Given the description of an element on the screen output the (x, y) to click on. 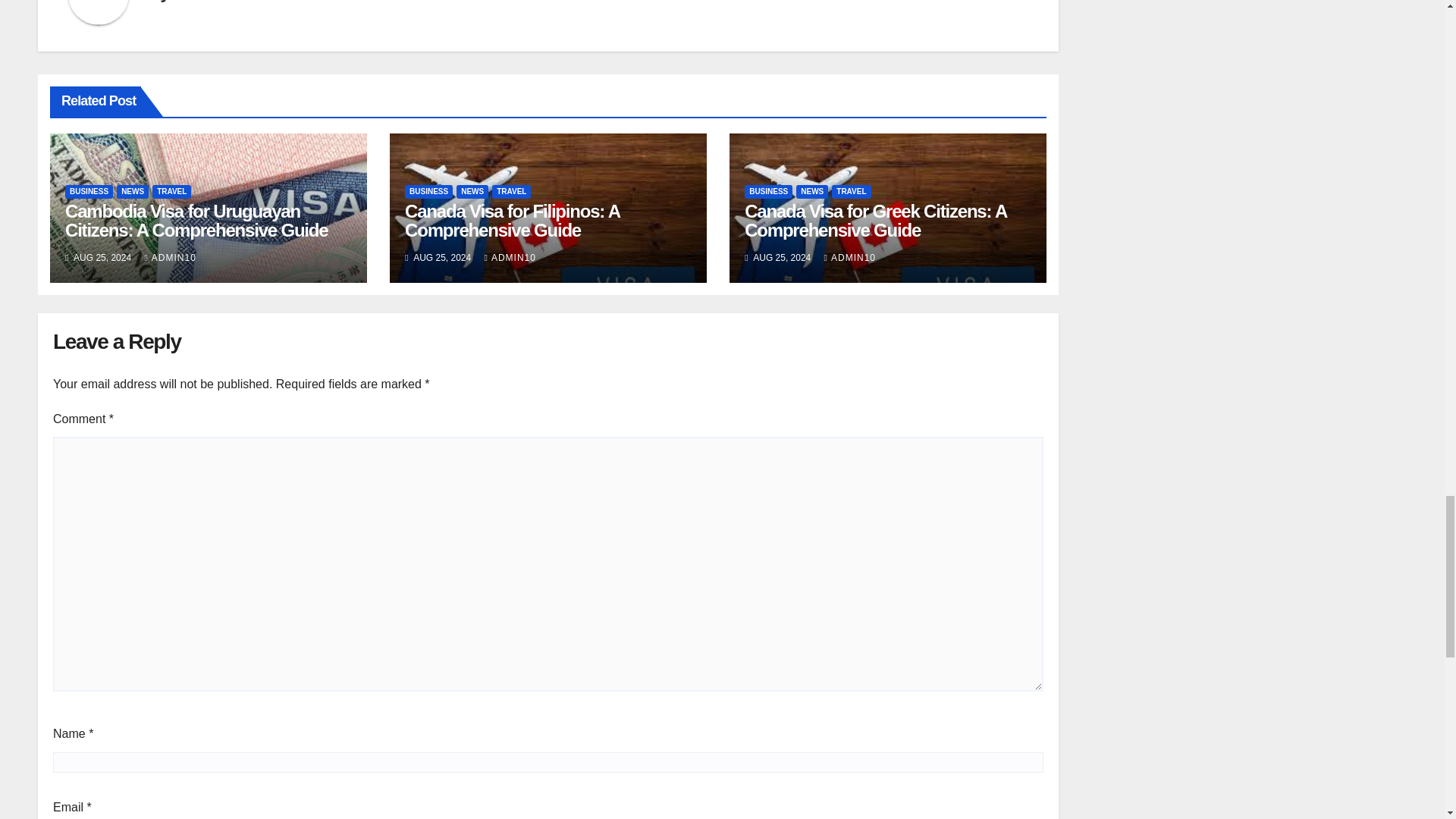
admin10 (207, 1)
